Given the description of an element on the screen output the (x, y) to click on. 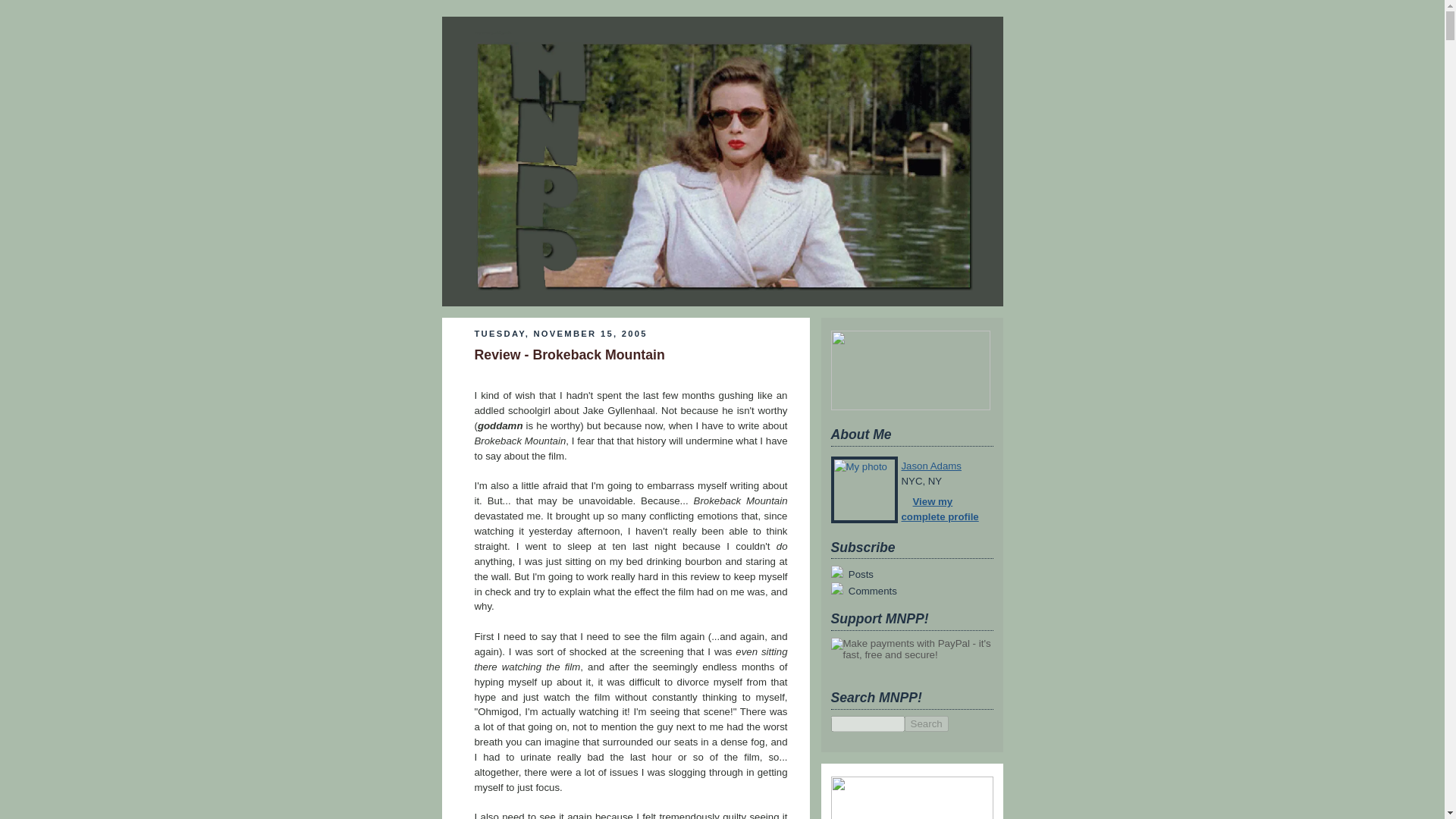
View my complete profile (939, 509)
search (867, 723)
Search (925, 723)
my new plaid pants (494, 32)
Search (925, 723)
search (925, 723)
Search (925, 723)
Jason Adams (930, 465)
